Given the description of an element on the screen output the (x, y) to click on. 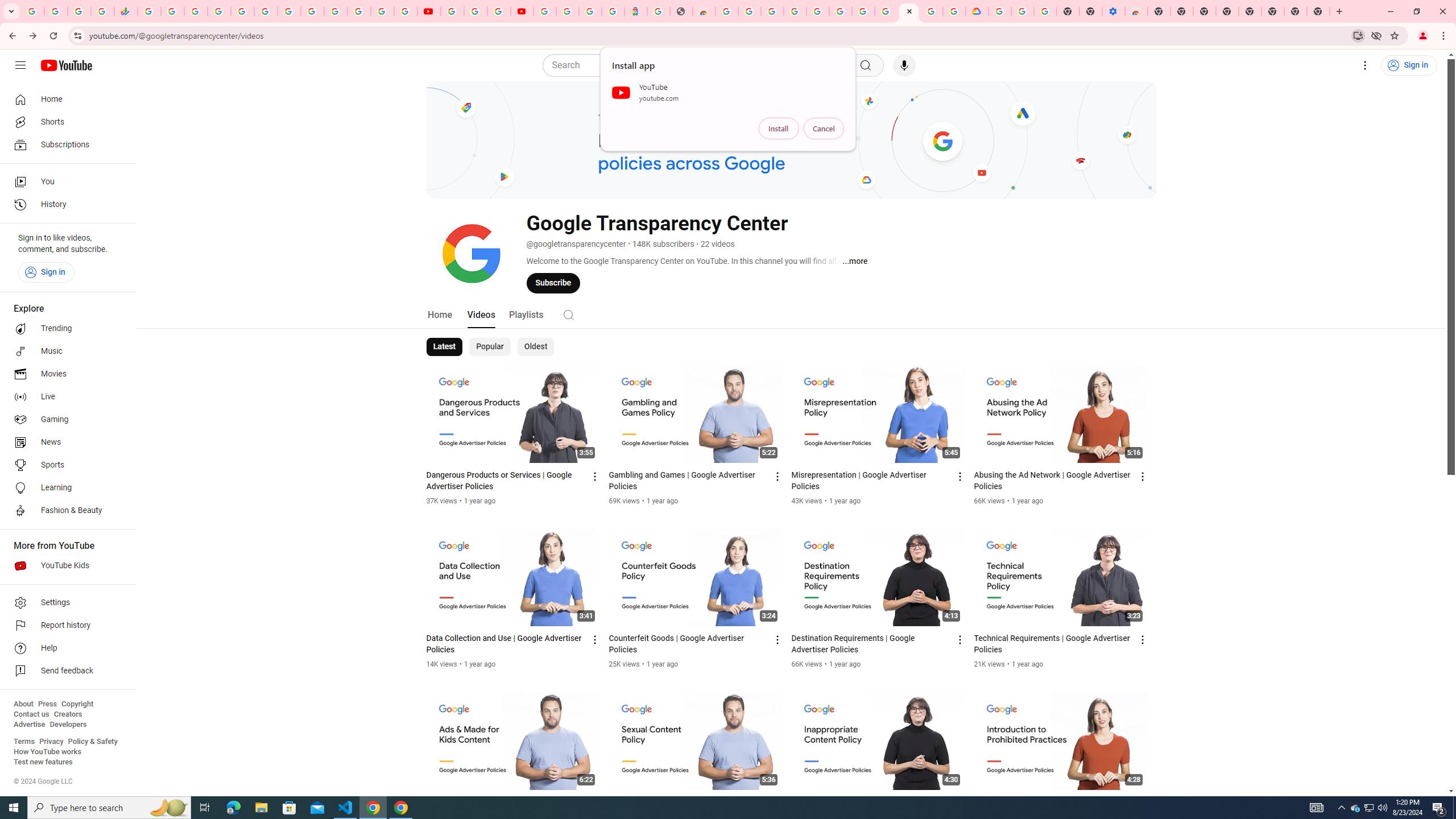
Content Creator Programs & Opportunities - YouTube Creators (521, 11)
Trending (64, 328)
Sign in - Google Accounts (218, 11)
History (64, 204)
Movies (64, 373)
YouTube Home (66, 65)
Fashion & Beauty (64, 510)
Policy & Safety (91, 741)
